Given the description of an element on the screen output the (x, y) to click on. 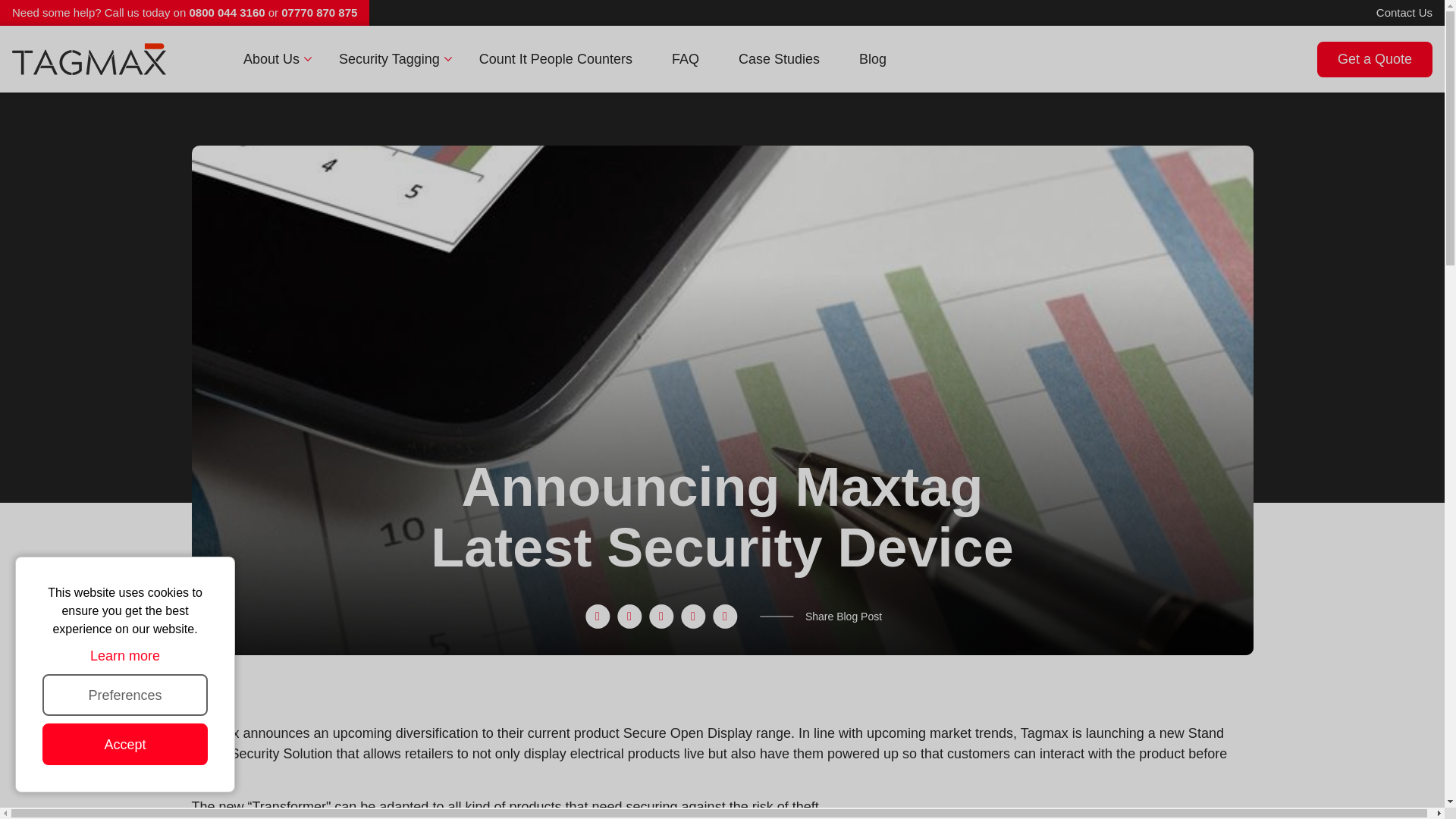
FAQ (685, 58)
Case Studies (779, 58)
Contact Us (1403, 11)
0800 044 3160 (226, 11)
WhatsApp (692, 616)
Count It People Counters (556, 58)
VK (660, 616)
Twitter (629, 616)
07770 870 875 (318, 11)
Get a Quote (1374, 58)
Facebook (597, 616)
Blog (872, 58)
